Given the description of an element on the screen output the (x, y) to click on. 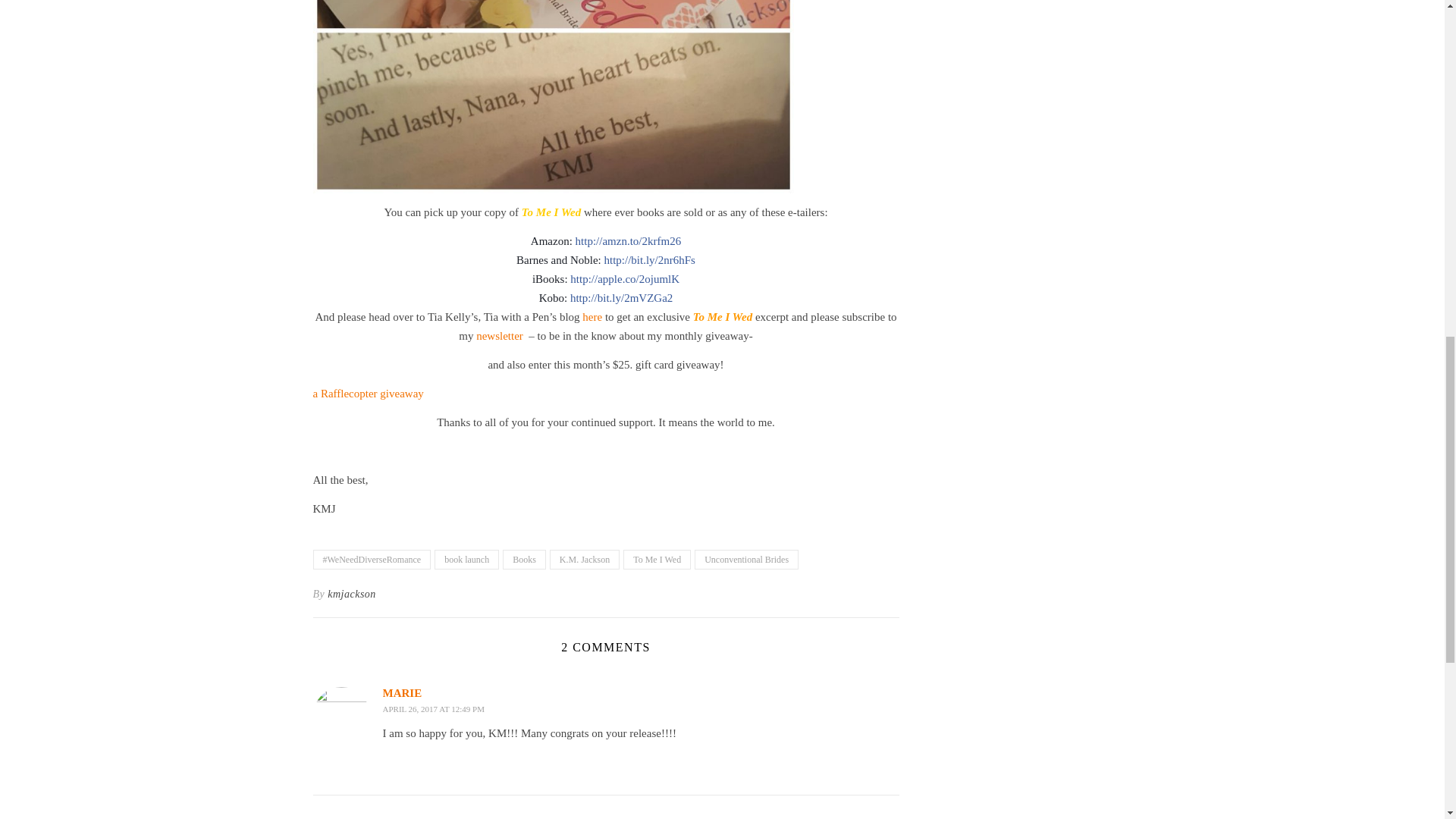
Posts by kmjackson (351, 594)
